Given the description of an element on the screen output the (x, y) to click on. 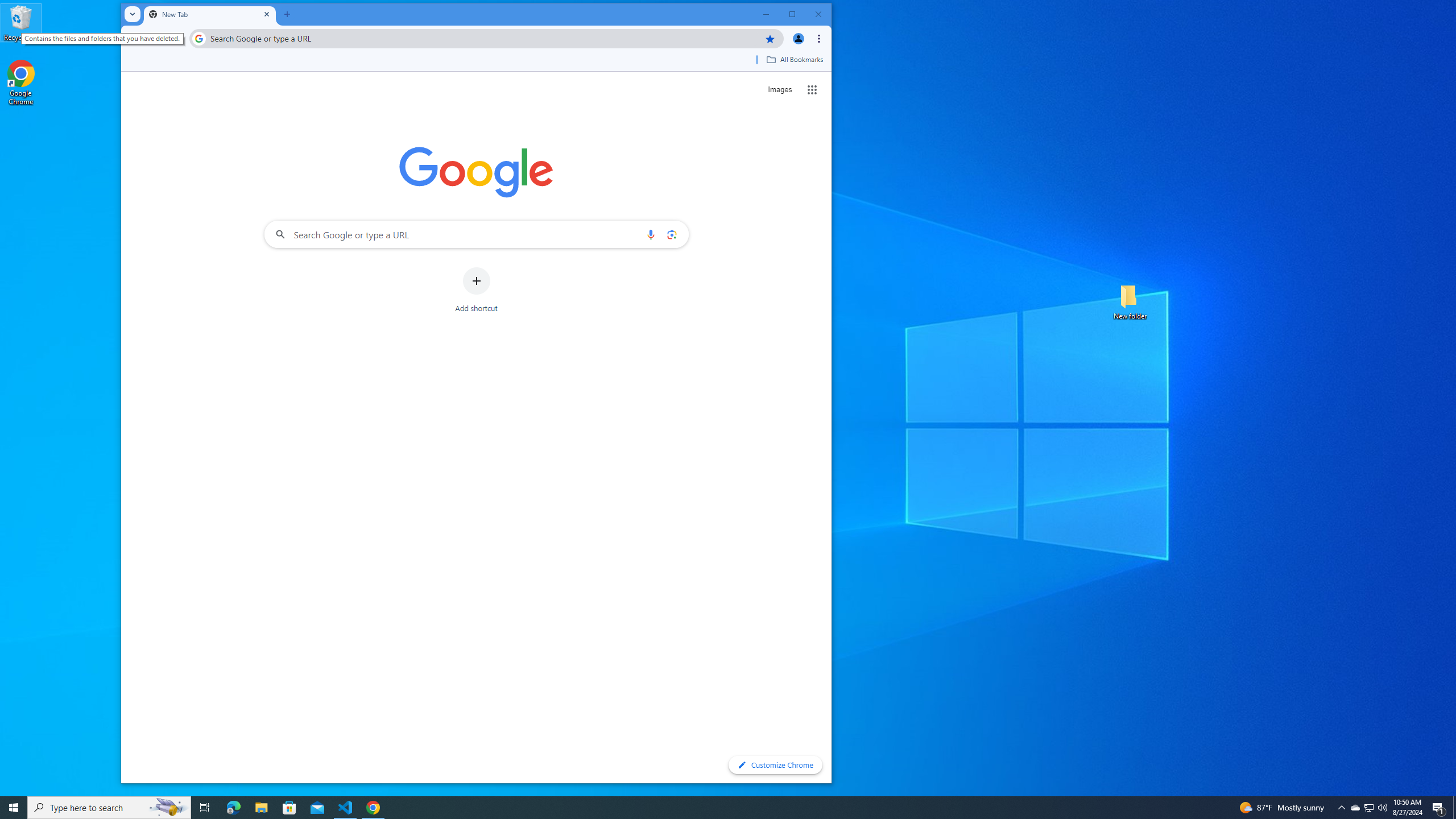
New folder (1130, 301)
Recycle Bin (21, 22)
Google Chrome (21, 82)
